Given the description of an element on the screen output the (x, y) to click on. 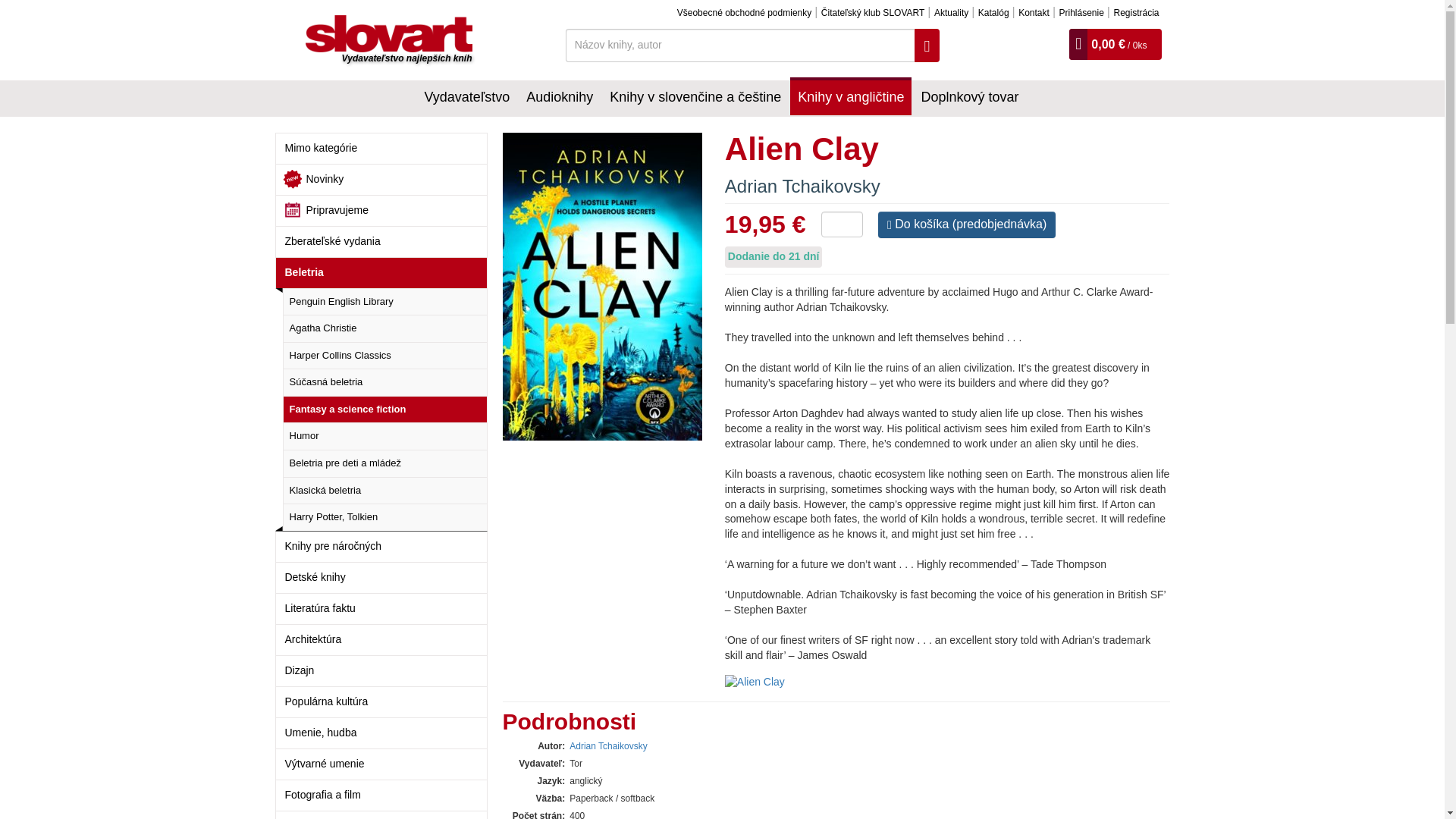
Agatha Christie (384, 328)
Kontakt (1033, 12)
Audioknihy (558, 95)
Beletria (380, 272)
Harry Potter, Tolkien (384, 516)
Alien Clay (612, 286)
Umenie, hudba (380, 732)
Fantasy a science fiction (384, 409)
Humor (384, 435)
Pripravujeme (380, 210)
Harper Collins Classics (384, 355)
Novinky (380, 178)
Dizajn (380, 670)
Penguin English Library (384, 301)
Aktuality (951, 12)
